Given the description of an element on the screen output the (x, y) to click on. 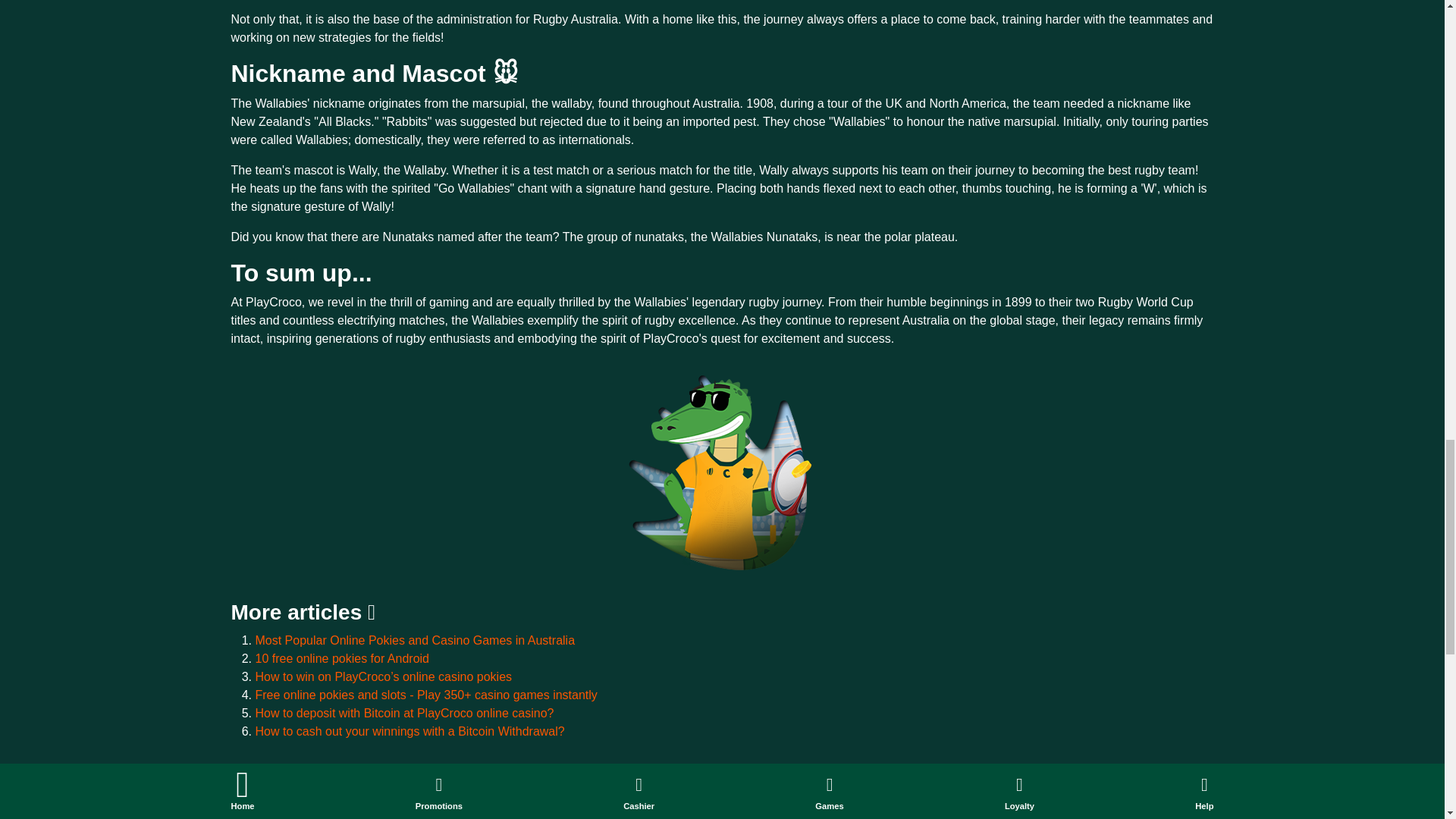
here (491, 815)
How to cash out your winnings with a Bitcoin Withdrawal? (409, 730)
How to cash out your winnings with a Bitcoin Withdrawal? (409, 730)
How to deposit with Bitcoin at PlayCroco online casino? (403, 712)
create an account (491, 815)
How to deposit with Bitcoin at PlayCroco online casino? (403, 712)
Most Popular Online Pokies and Casino Games in Australia (414, 640)
10 free online pokies for Android (341, 658)
Most Popular Online Pokies and Casino Games in Australia (414, 640)
Free online pokies and slots (425, 694)
10 free online pokies for Android (341, 658)
